Given the description of an element on the screen output the (x, y) to click on. 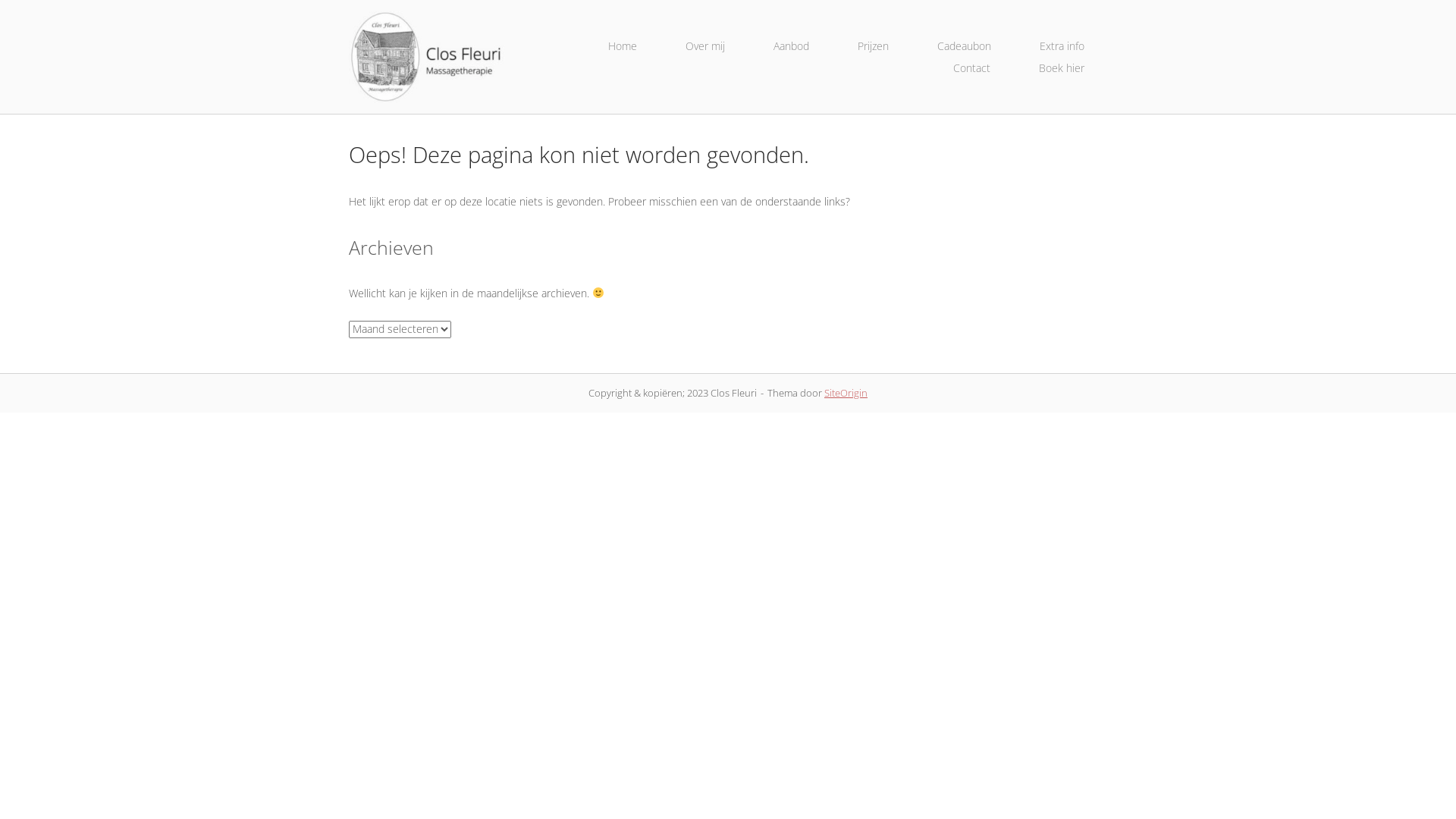
Contact Element type: text (971, 67)
Home Element type: text (428, 55)
Cadeaubon Element type: text (963, 45)
Boek hier Element type: text (1061, 67)
Extra info Element type: text (1061, 45)
SiteOrigin Element type: text (845, 392)
Aanbod Element type: text (790, 45)
Over mij Element type: text (704, 45)
Home Element type: text (622, 45)
Prijzen Element type: text (872, 45)
